Given the description of an element on the screen output the (x, y) to click on. 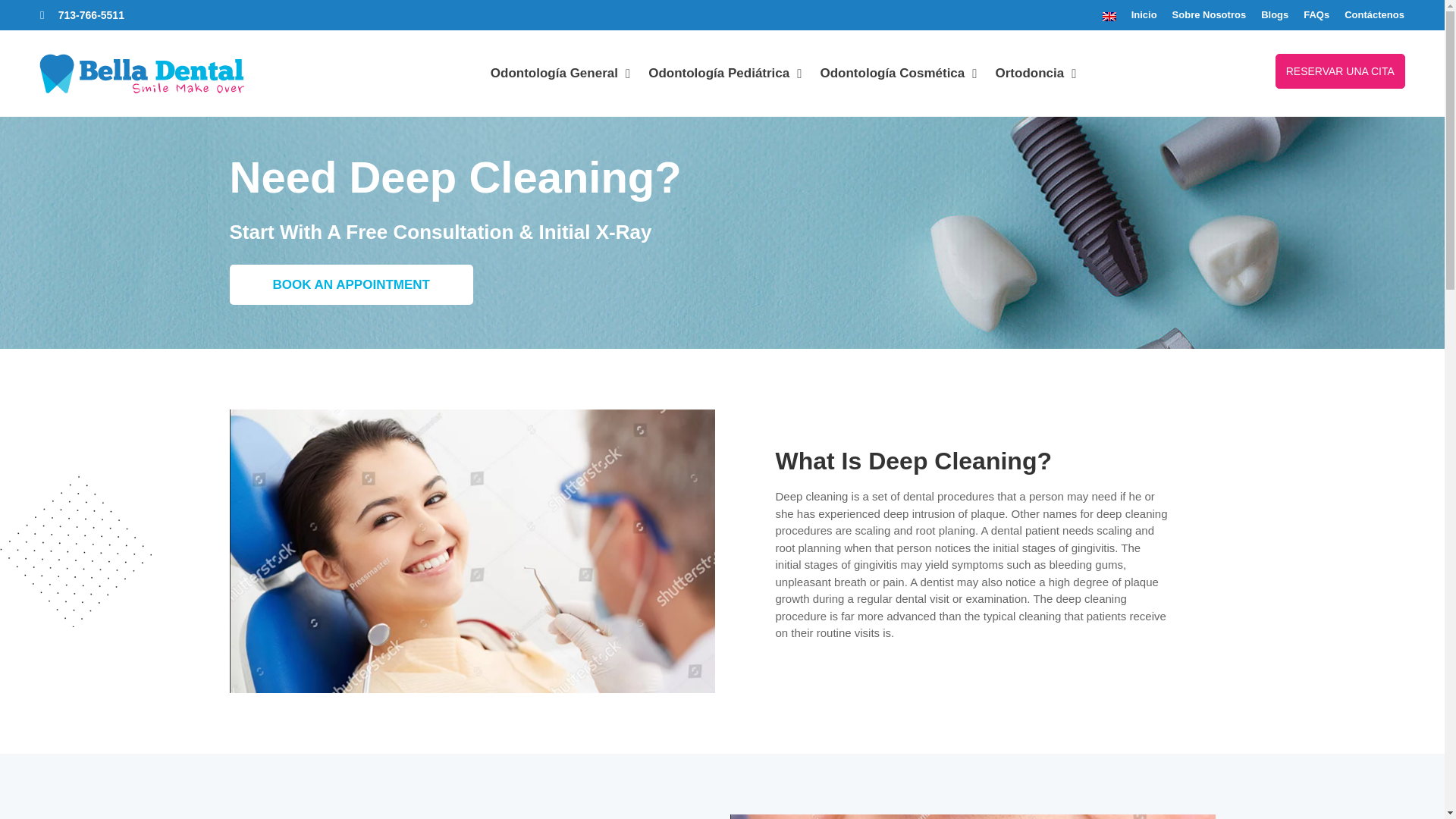
Inicio (1144, 14)
FAQs (1315, 14)
Blogs (1274, 14)
713-766-5511 (81, 15)
Sobre Nosotros (1208, 14)
